Given the description of an element on the screen output the (x, y) to click on. 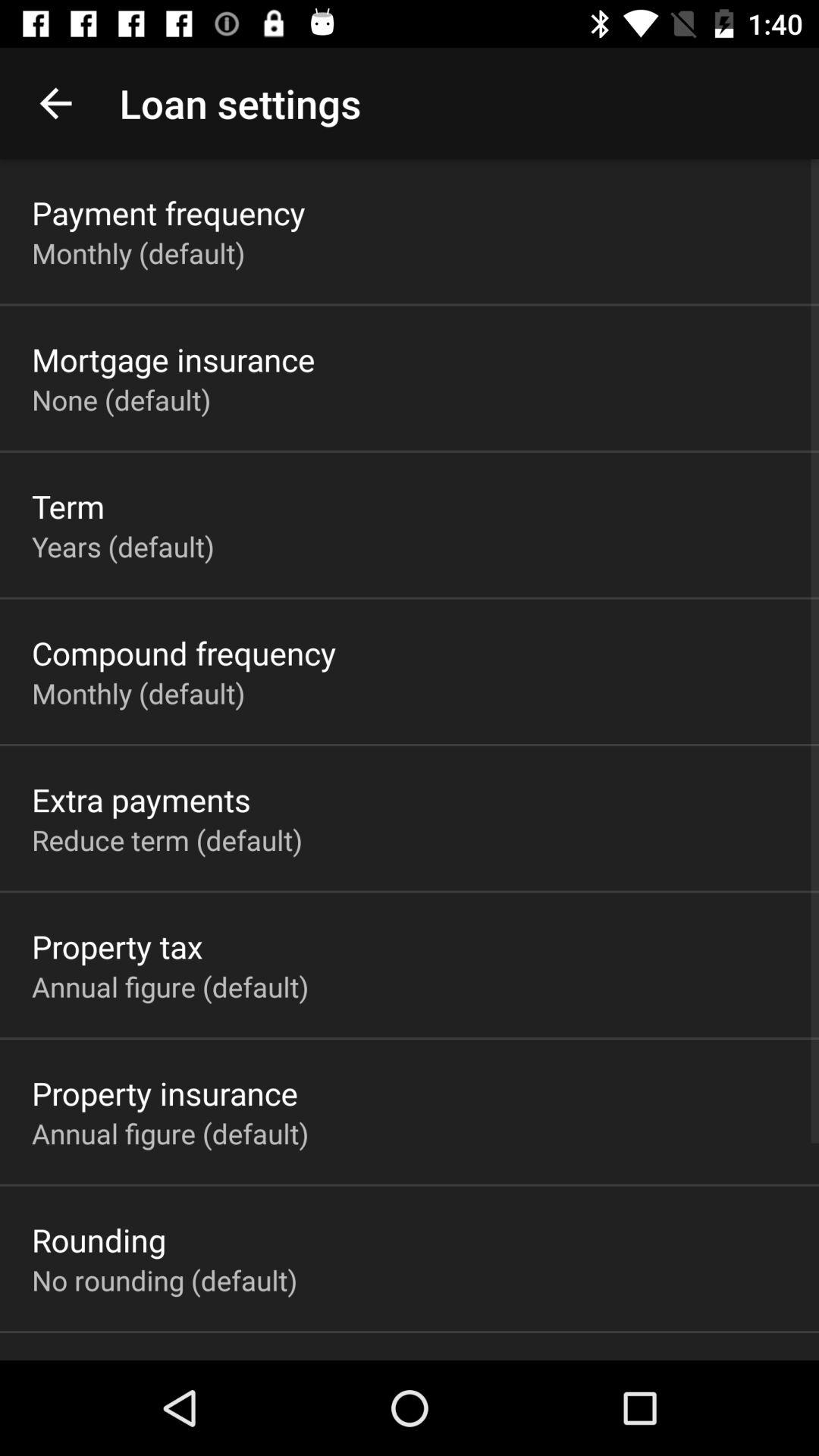
open the item next to the loan settings icon (55, 103)
